Given the description of an element on the screen output the (x, y) to click on. 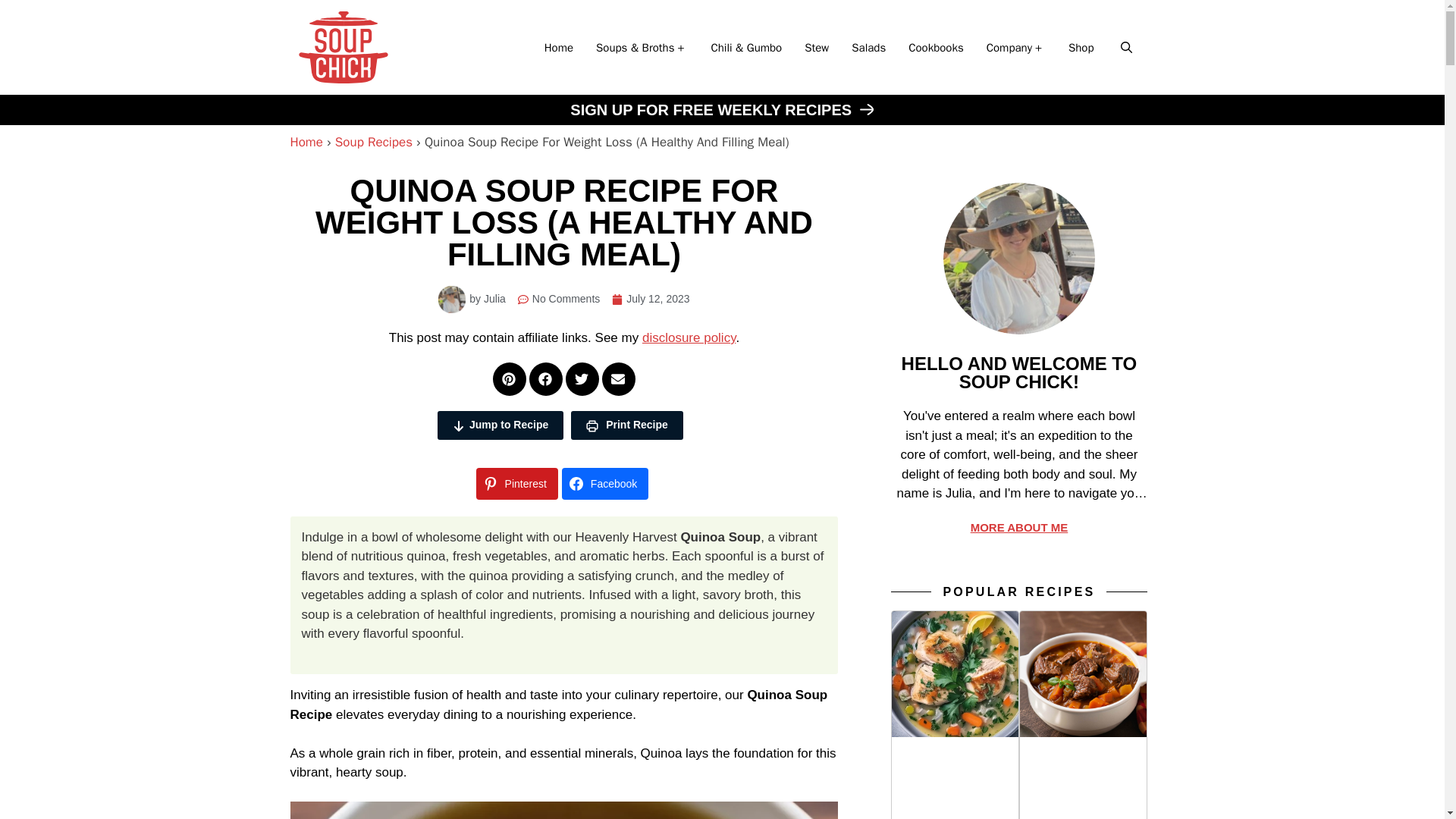
Print Recipe (626, 424)
Shop (1081, 47)
Stew (816, 47)
Share on Pinterest (516, 483)
SIGN UP FOR FREE WEEKLY RECIPES (721, 109)
disclosure policy (688, 337)
Soup Recipes (373, 141)
Home (558, 47)
No Comments (558, 299)
Company (1016, 47)
Jump to Recipe (500, 424)
Facebook (604, 483)
Home (305, 141)
Salads (868, 47)
Cookbooks (935, 47)
